Given the description of an element on the screen output the (x, y) to click on. 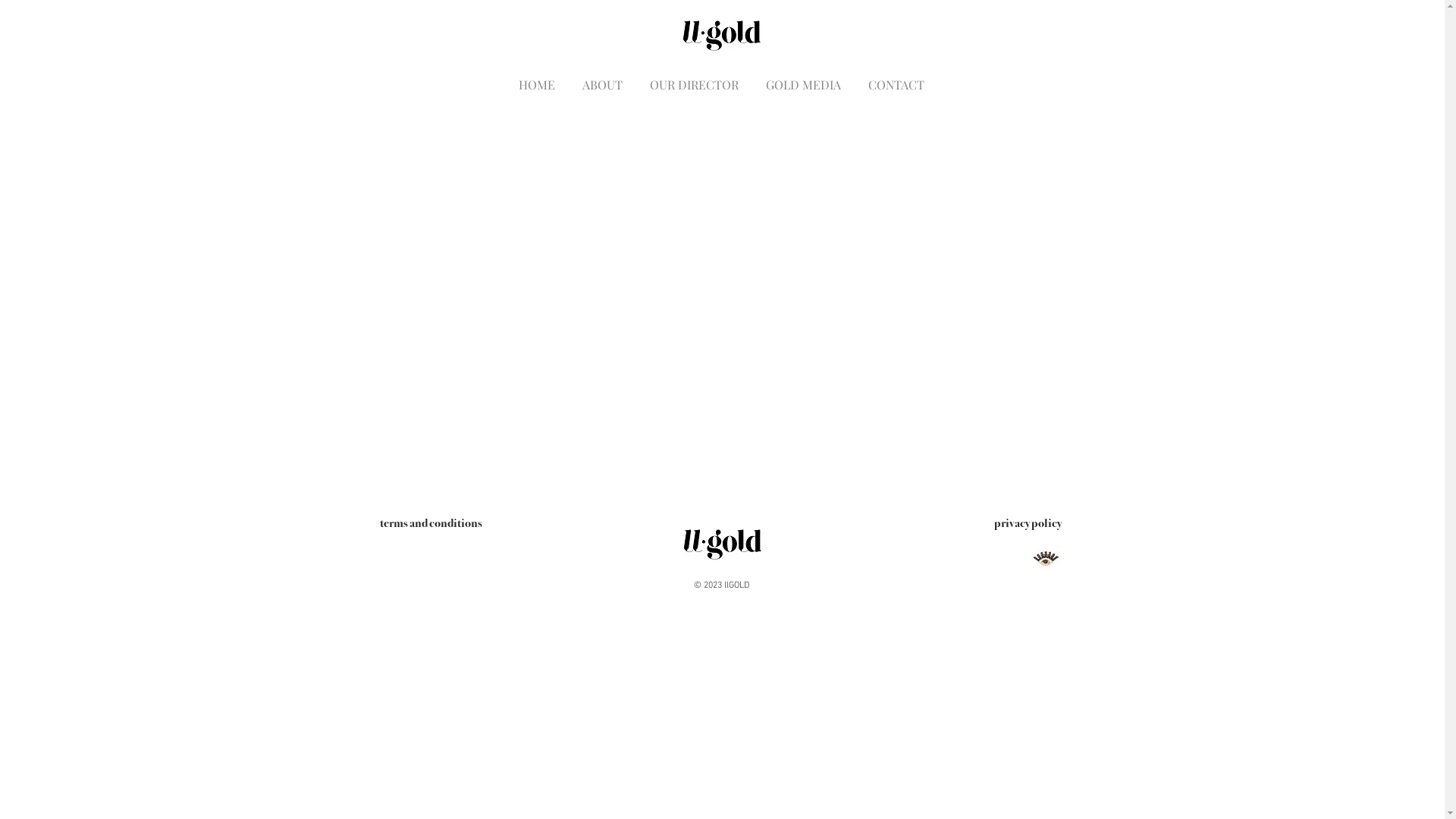
OUR DIRECTOR Element type: text (694, 77)
terms and conditions Element type: text (430, 521)
GOLD MEDIA Element type: text (803, 77)
ABOUT Element type: text (602, 77)
Embedded Content Element type: hover (721, 310)
privacy policy Element type: text (1026, 522)
HOME Element type: text (536, 77)
CONTACT Element type: text (896, 77)
